Given the description of an element on the screen output the (x, y) to click on. 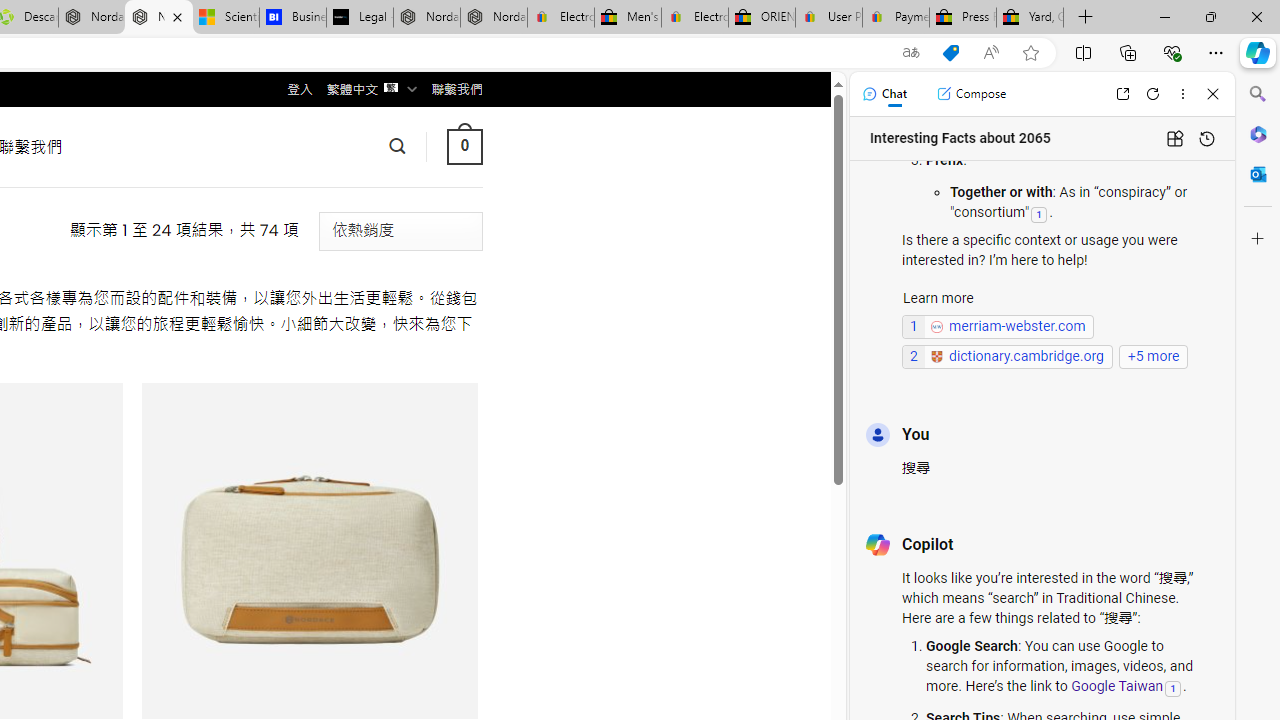
Compose (971, 93)
 0  (464, 146)
